Given the description of an element on the screen output the (x, y) to click on. 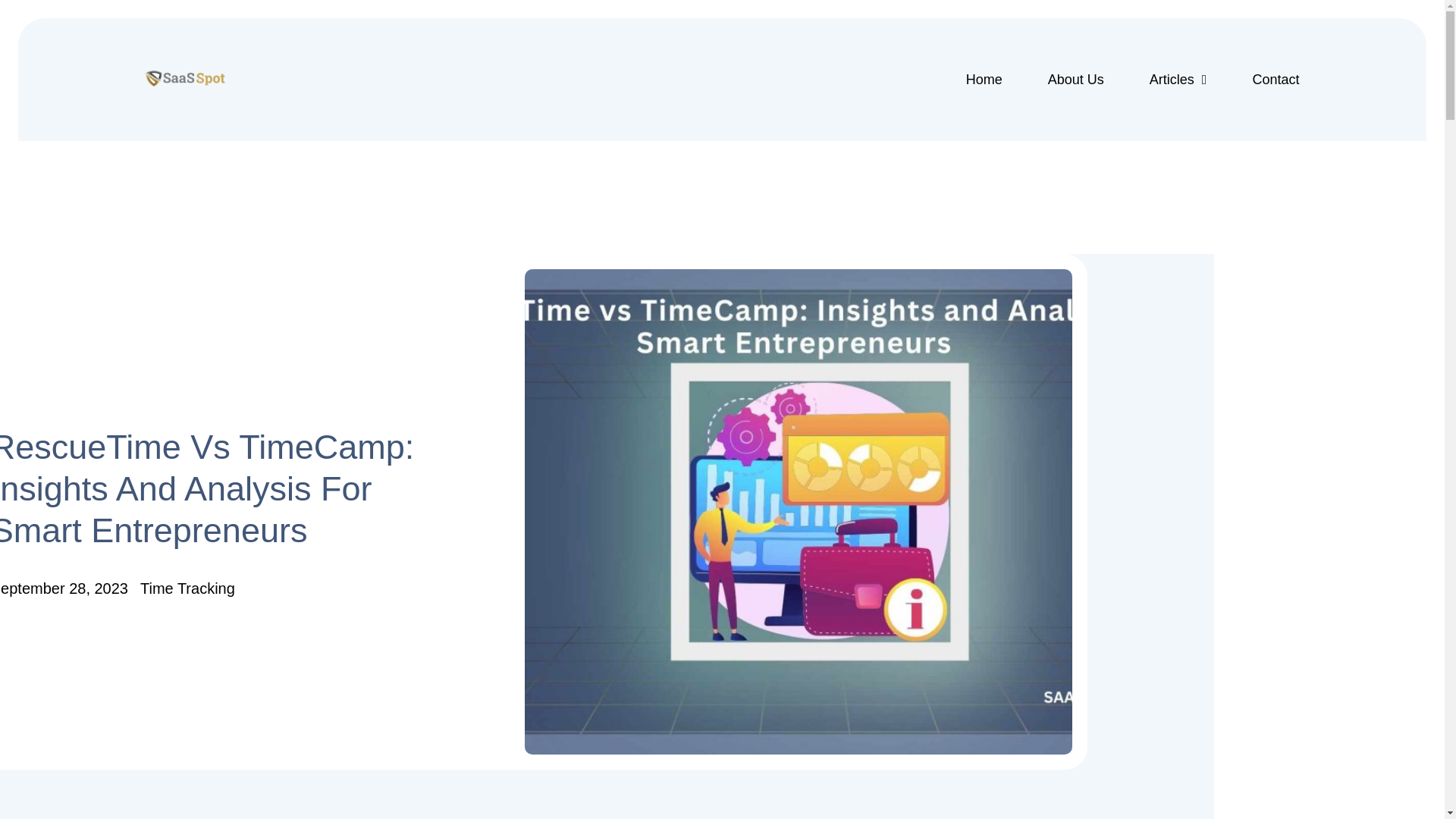
Time Tracking (186, 588)
About Us (1075, 79)
Contact (1275, 79)
Articles (1178, 79)
Home (984, 79)
